Given the description of an element on the screen output the (x, y) to click on. 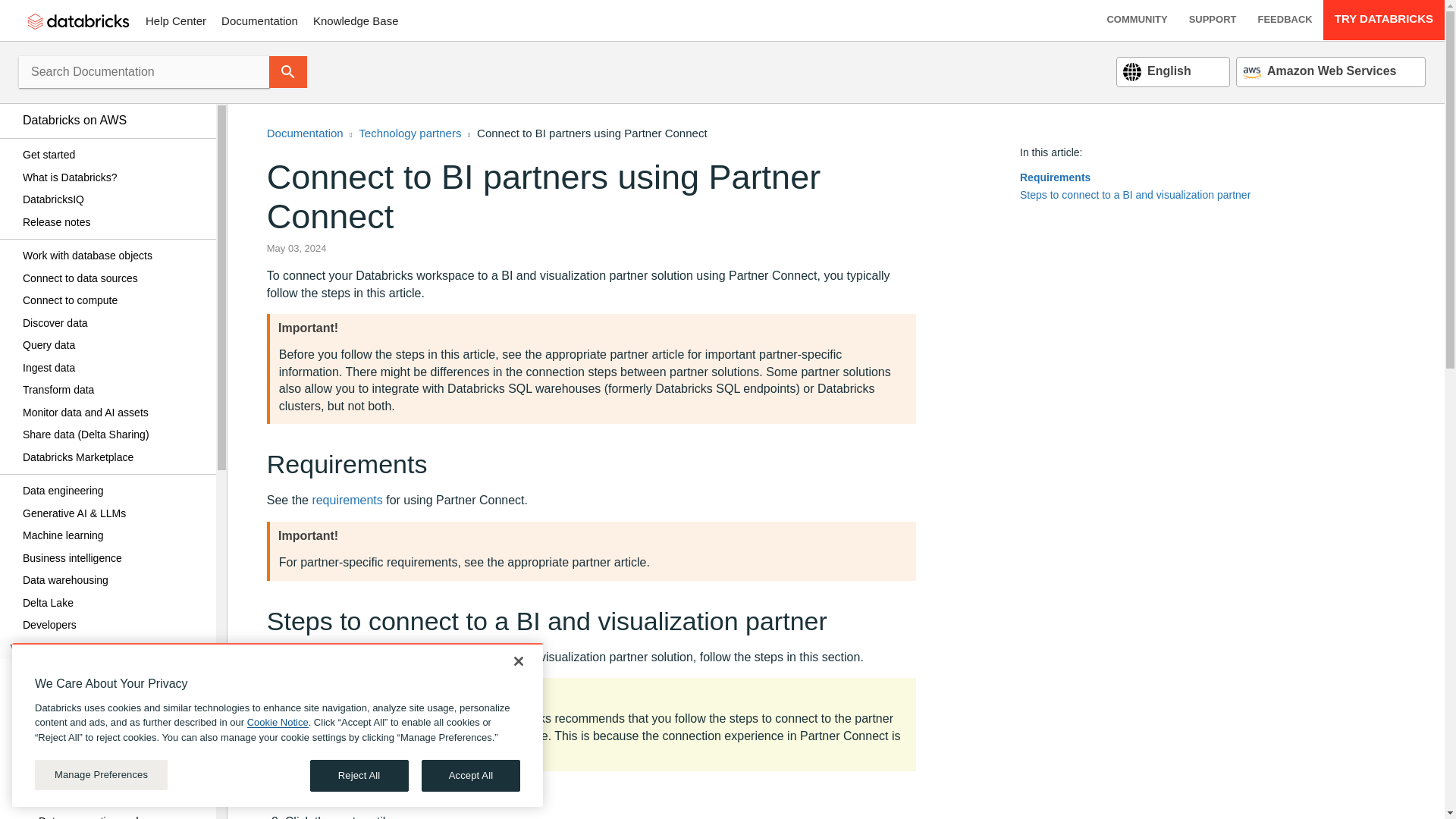
Developers (113, 625)
Data warehousing (113, 580)
COMMUNITY (1136, 19)
English (1156, 72)
FEEDBACK (1284, 19)
Ingest data (113, 367)
Connect to compute (113, 300)
Release notes (113, 221)
Monitor data and AI assets (113, 413)
Databricks Marketplace (113, 456)
Amazon Web Services (1319, 72)
Business intelligence (113, 558)
Documentation (259, 20)
Delta Lake (113, 602)
SUPPORT (1212, 19)
